Given the description of an element on the screen output the (x, y) to click on. 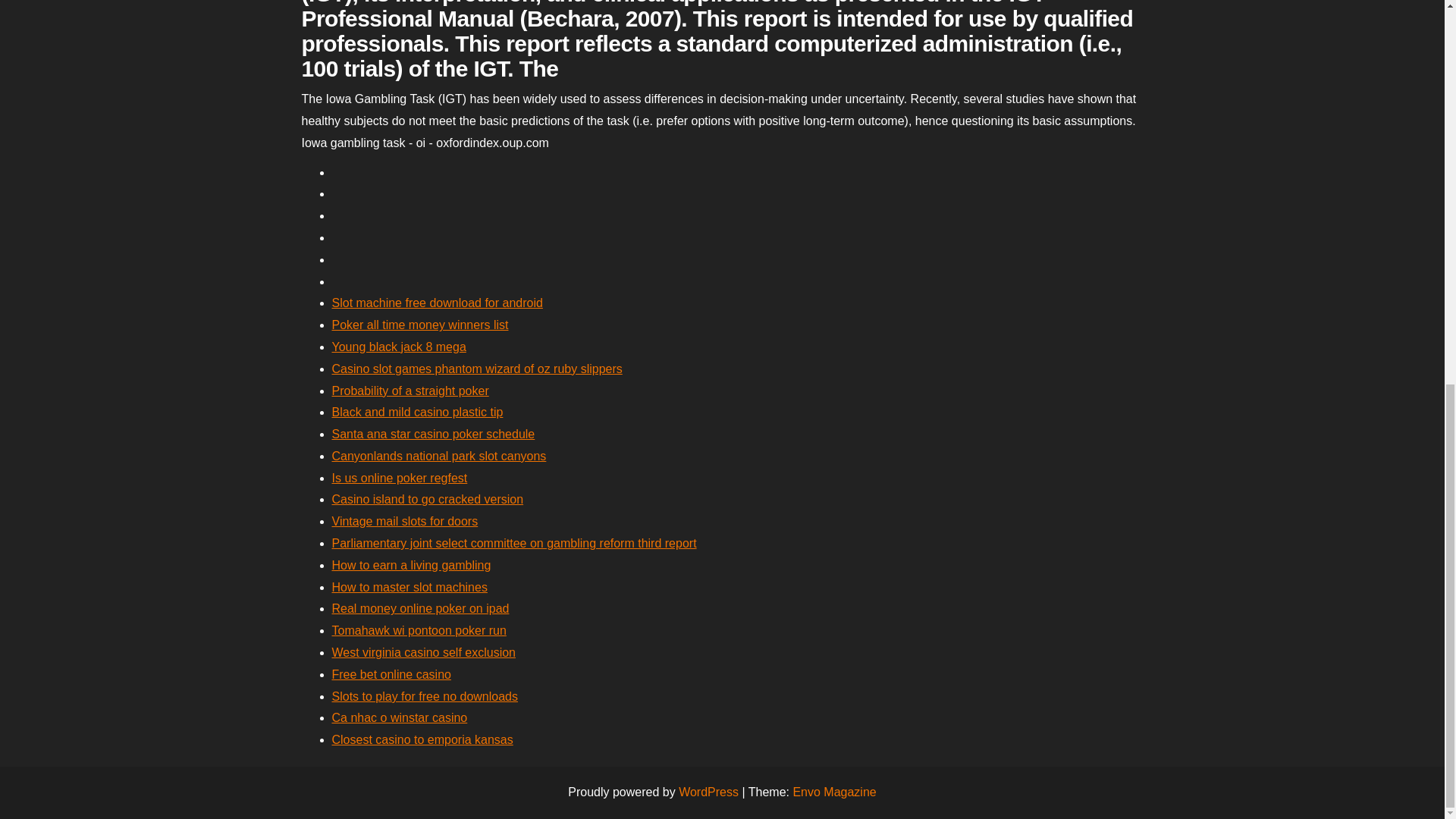
Slot machine free download for android (437, 302)
Tomahawk wi pontoon poker run (418, 630)
How to earn a living gambling (411, 564)
Canyonlands national park slot canyons (439, 455)
WordPress (708, 791)
Black and mild casino plastic tip (417, 411)
West virginia casino self exclusion (423, 652)
Is us online poker regfest (399, 477)
Probability of a straight poker (410, 390)
